Given the description of an element on the screen output the (x, y) to click on. 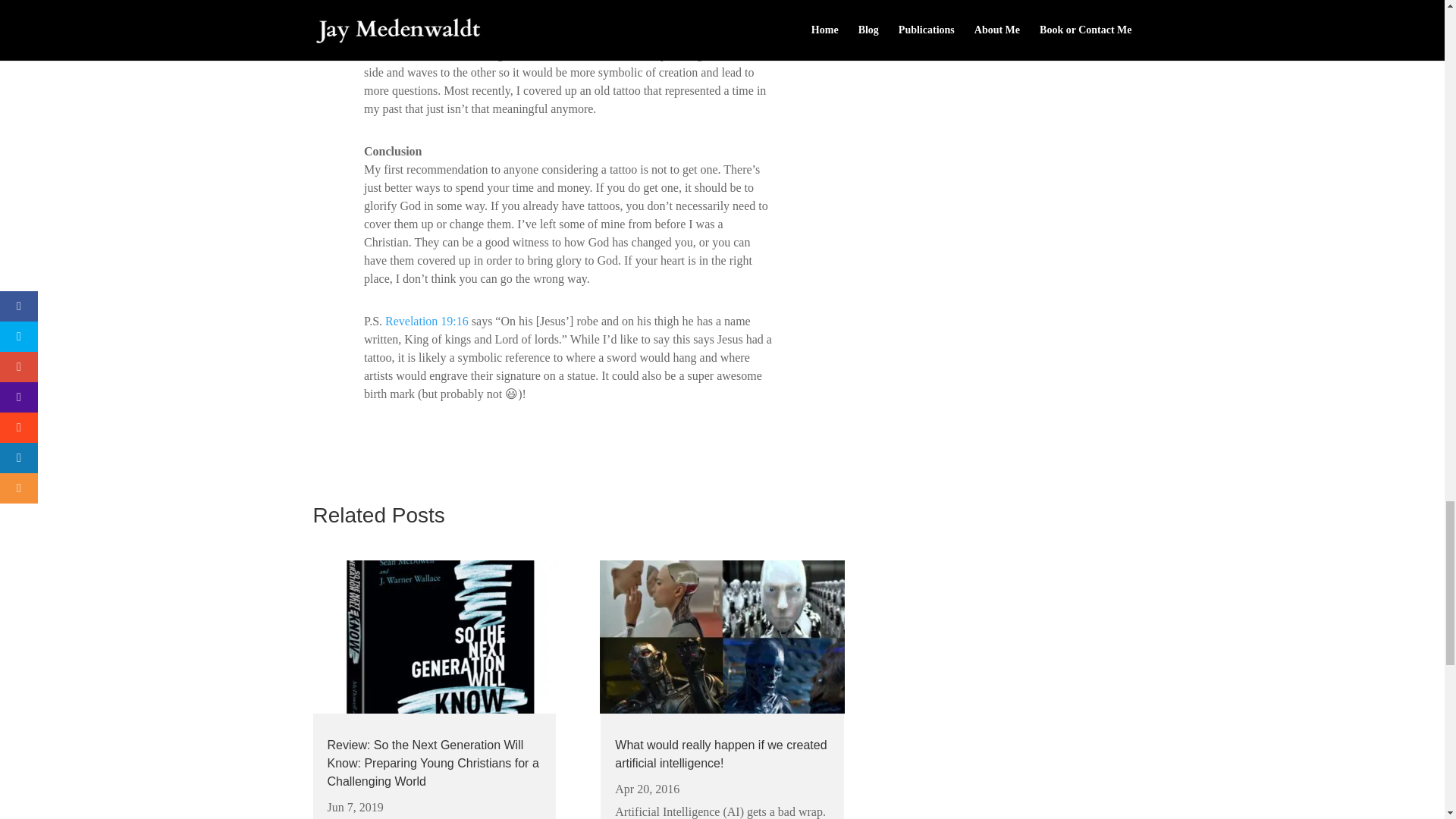
Revelation 19:16 (426, 320)
